Given the description of an element on the screen output the (x, y) to click on. 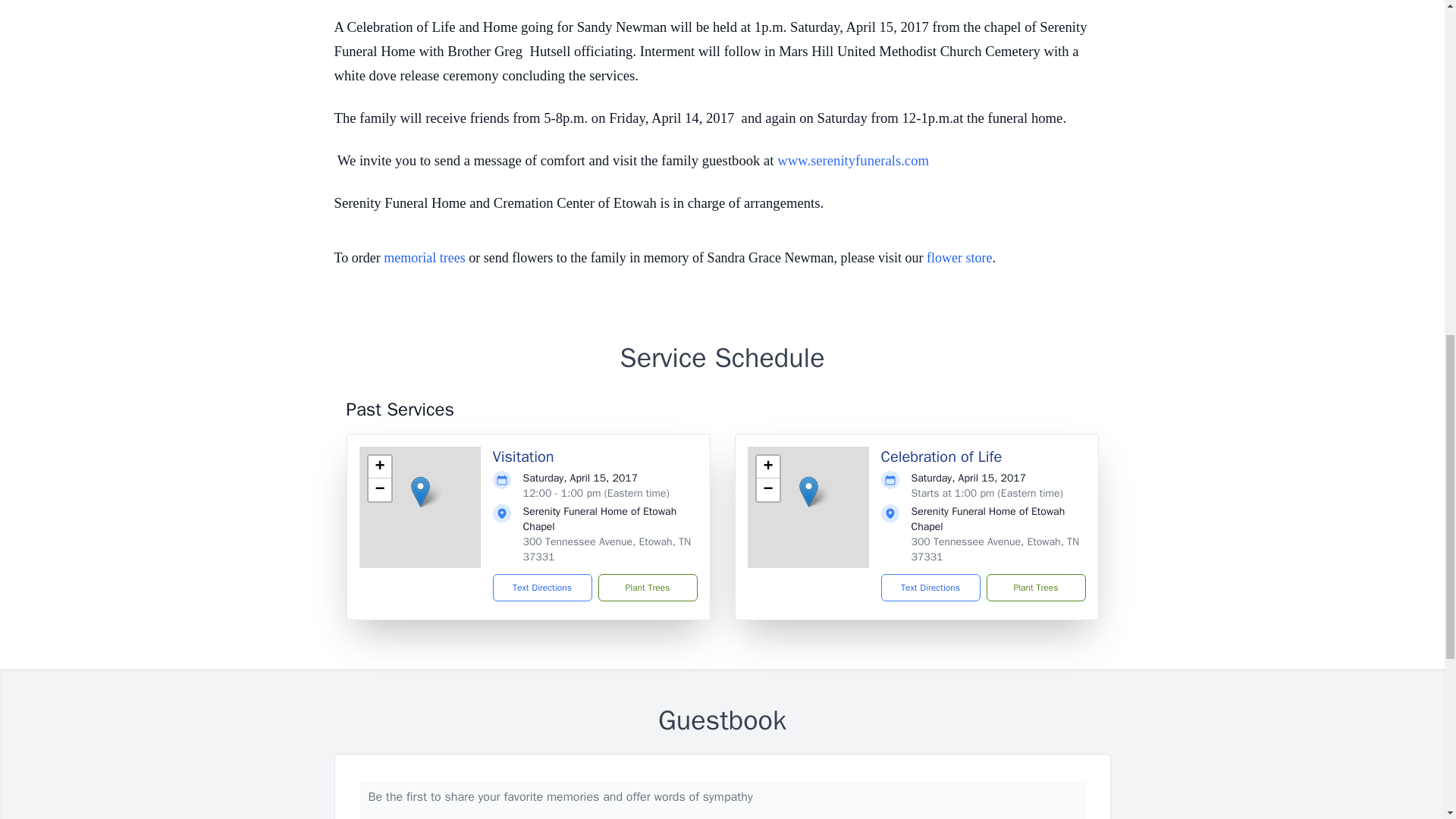
Plant Trees (646, 587)
Zoom out (767, 489)
Zoom in (379, 466)
Zoom in (767, 466)
www.serenityfunerals.com (852, 160)
300 Tennessee Avenue, Etowah, TN 37331 (995, 549)
Text Directions (929, 587)
Plant Trees (1034, 587)
flower store (958, 257)
Text Directions (542, 587)
300 Tennessee Avenue, Etowah, TN 37331 (606, 549)
memorial trees (424, 257)
Zoom out (379, 489)
